Given the description of an element on the screen output the (x, y) to click on. 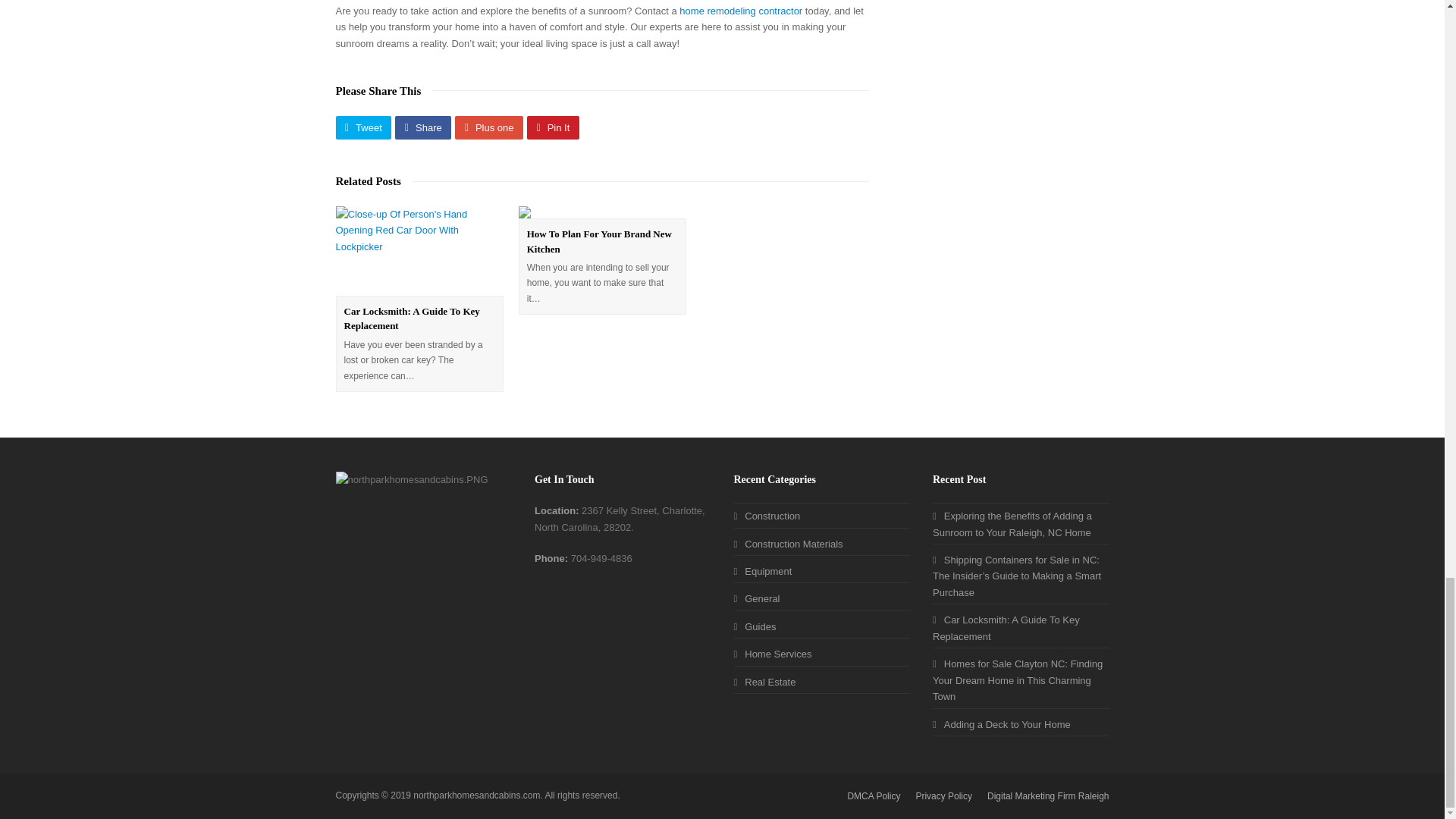
Guides (754, 626)
Tweet (362, 127)
How To Plan For Your Brand New Kitchen (599, 241)
Real Estate (764, 681)
Share on Facebook (422, 127)
Car Locksmith: A Guide To Key Replacement (411, 318)
How To Plan For Your Brand New Kitchen (599, 241)
Share on Twitter (362, 127)
Plus one (488, 127)
